Given the description of an element on the screen output the (x, y) to click on. 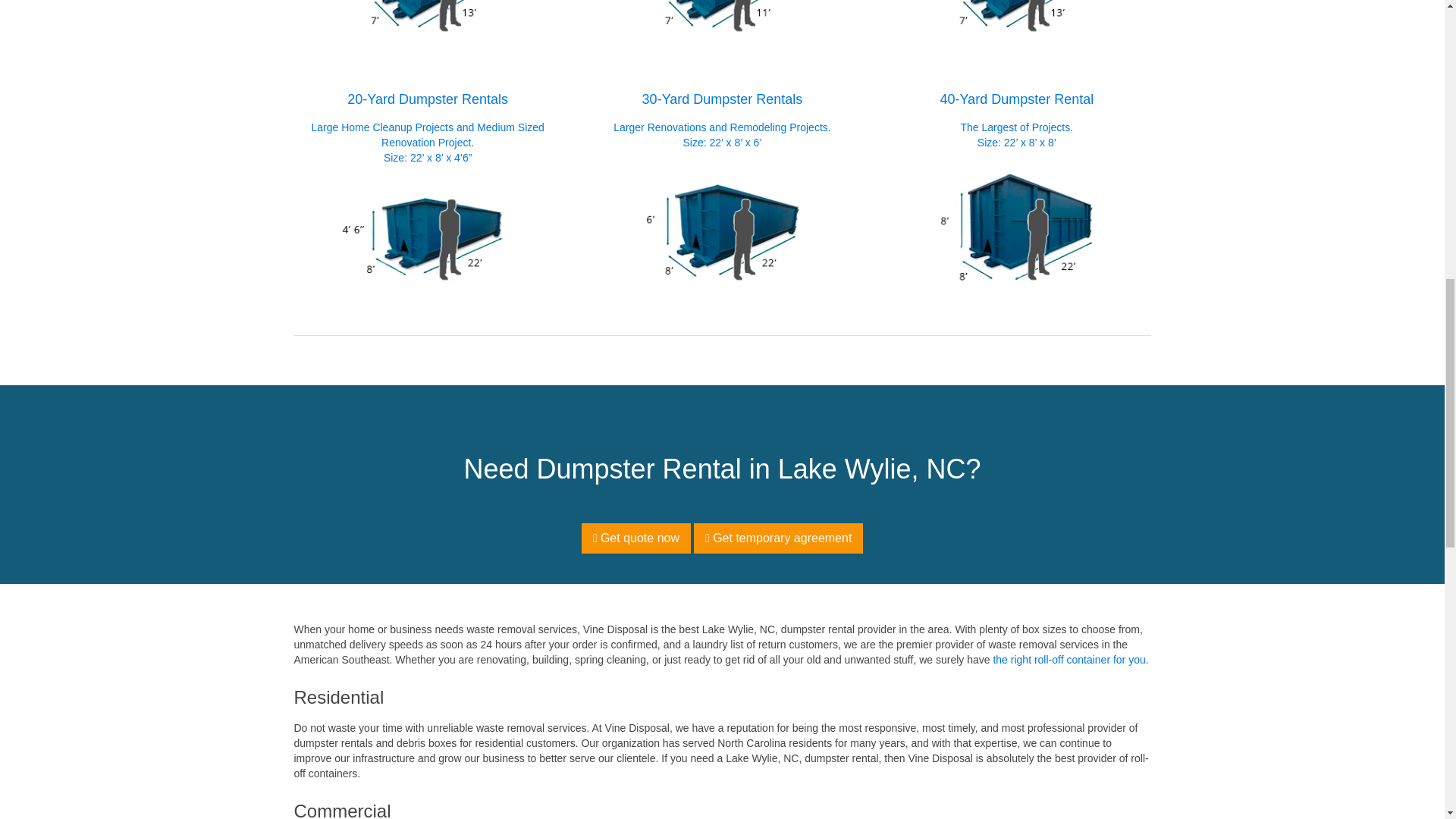
10-Yard Dumpster Rentals (722, 18)
20-Yard Dumpster Rentals (427, 226)
30-Yard Dumpster Rentals (722, 226)
40-Yard Dumpster Rental (1016, 226)
12-Yard Dumpster Rental (1016, 18)
Dumpster rental for clean concrete (427, 18)
